Given the description of an element on the screen output the (x, y) to click on. 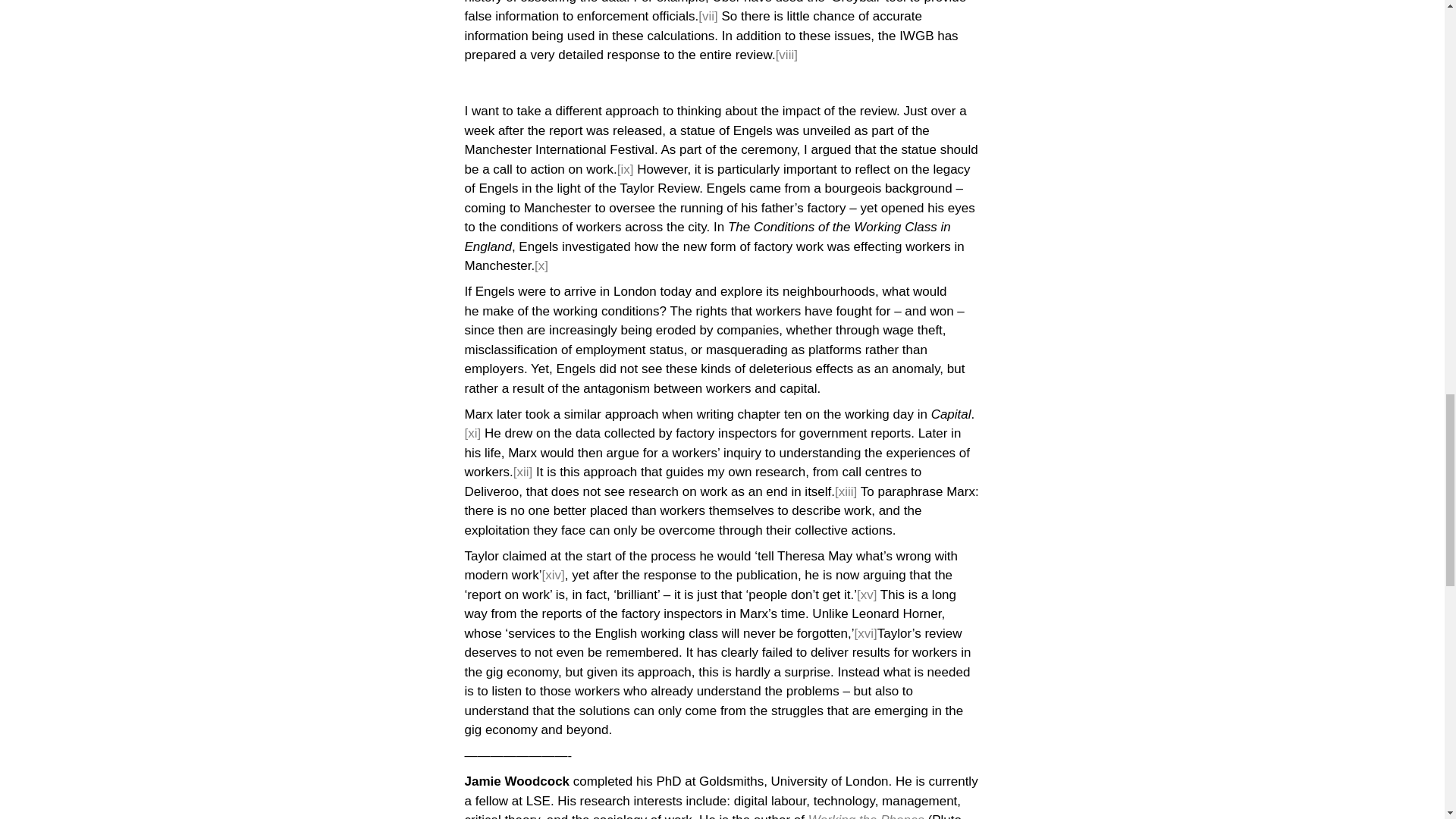
Working the Phones  (868, 816)
